Given the description of an element on the screen output the (x, y) to click on. 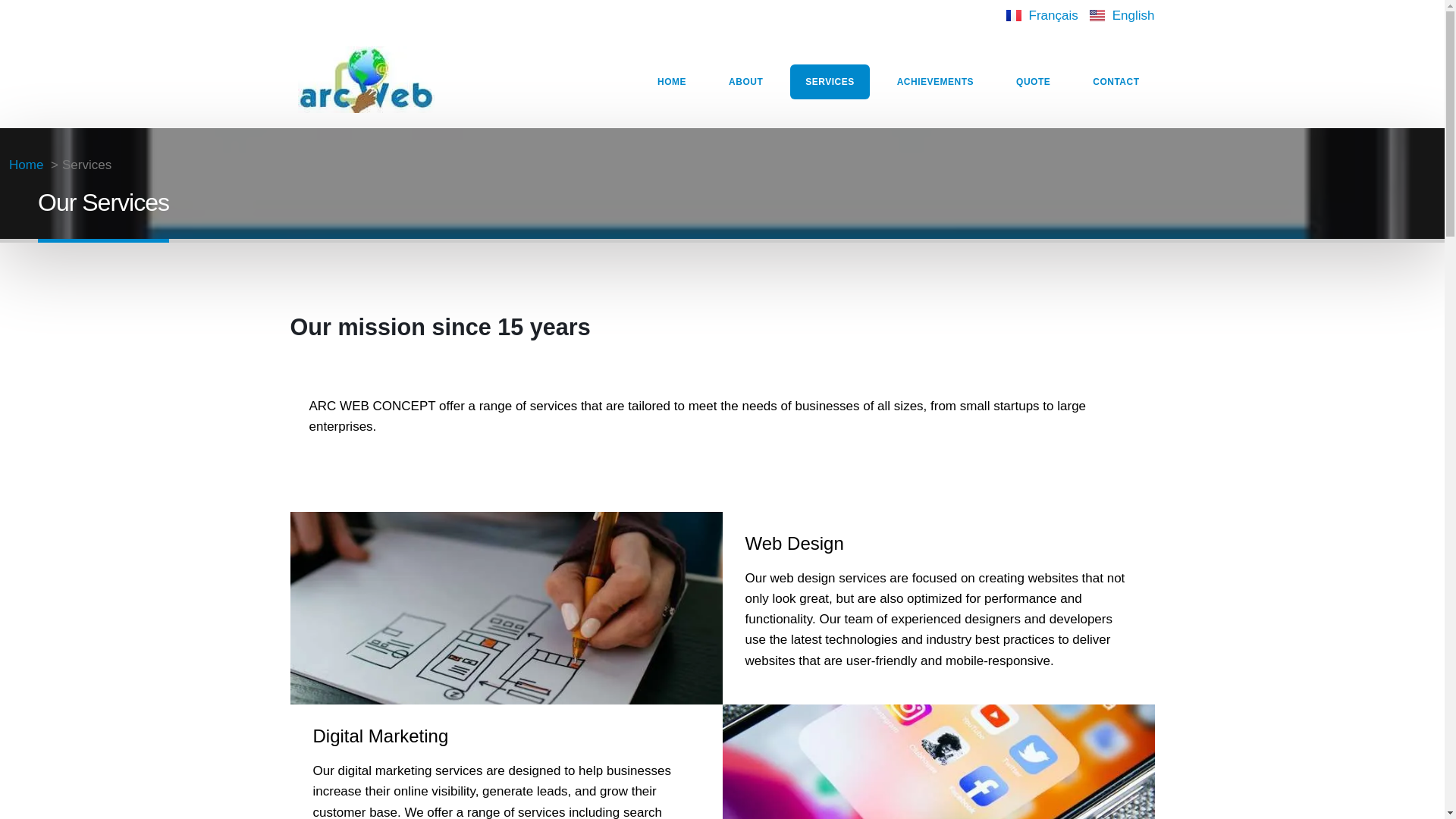
HOME (671, 81)
CONTACT (1115, 81)
ABOUT (745, 81)
SERVICES (829, 81)
QUOTE (1033, 81)
Home (25, 164)
English (1121, 15)
ACHIEVEMENTS (935, 81)
